Given the description of an element on the screen output the (x, y) to click on. 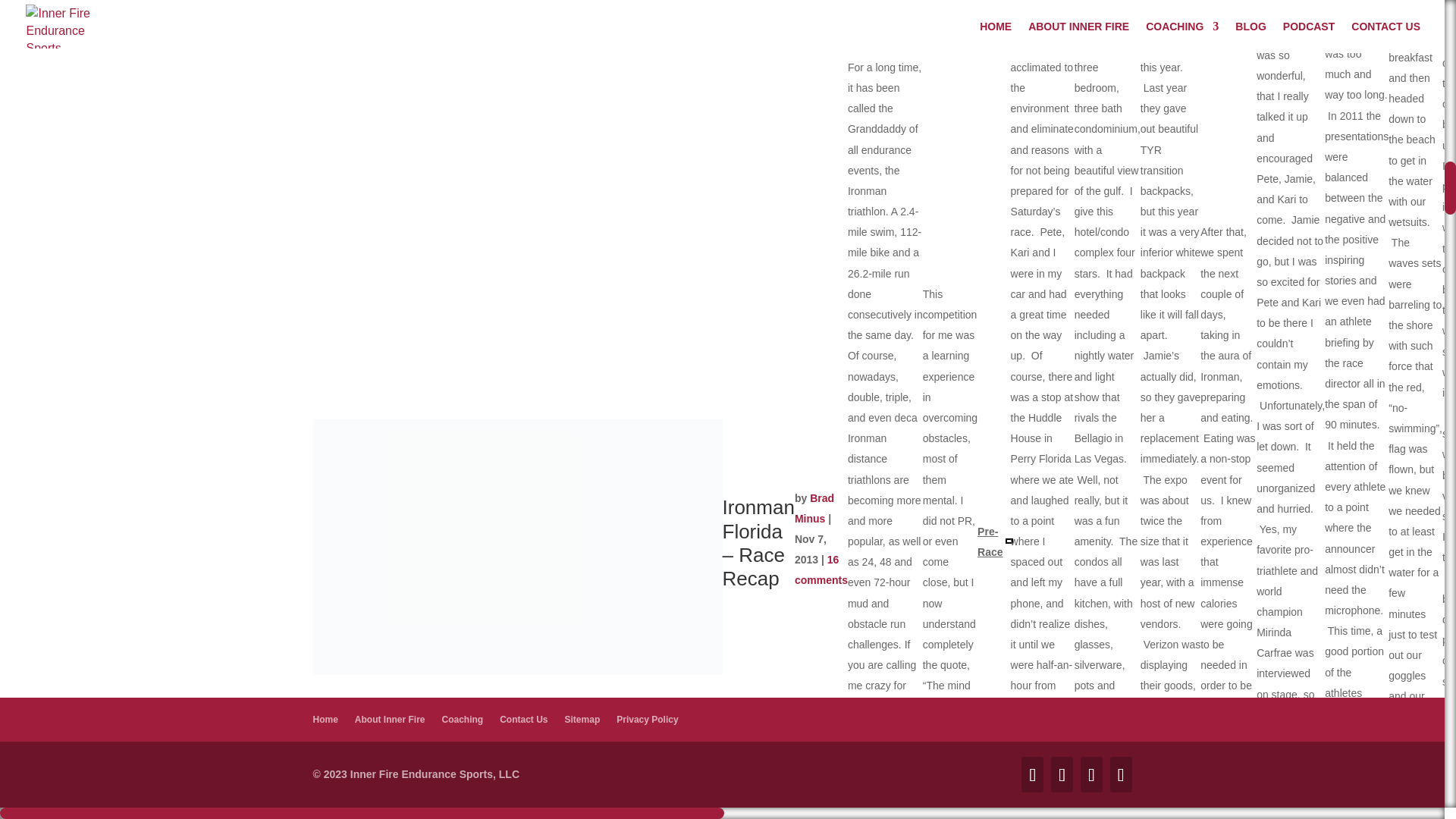
16 comments (820, 569)
Posts by Brad Minus (814, 508)
Brad Minus (814, 508)
